Given the description of an element on the screen output the (x, y) to click on. 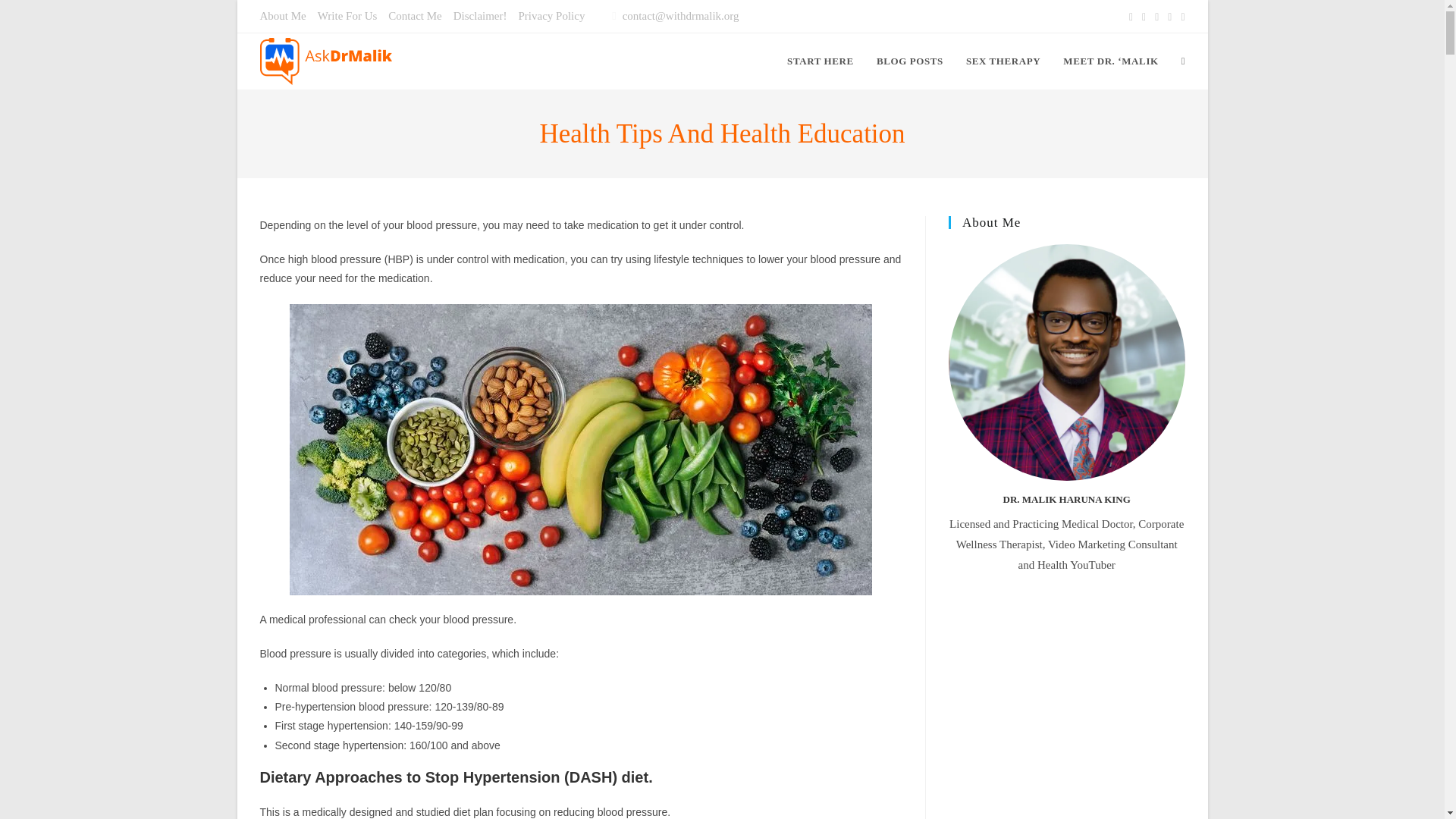
Write For Us (347, 15)
SEX THERAPY (1003, 61)
START HERE (820, 61)
Disclaimer! (479, 15)
About Me (282, 15)
BLOG POSTS (909, 61)
Privacy Policy (551, 15)
Contact Me (414, 15)
